Given the description of an element on the screen output the (x, y) to click on. 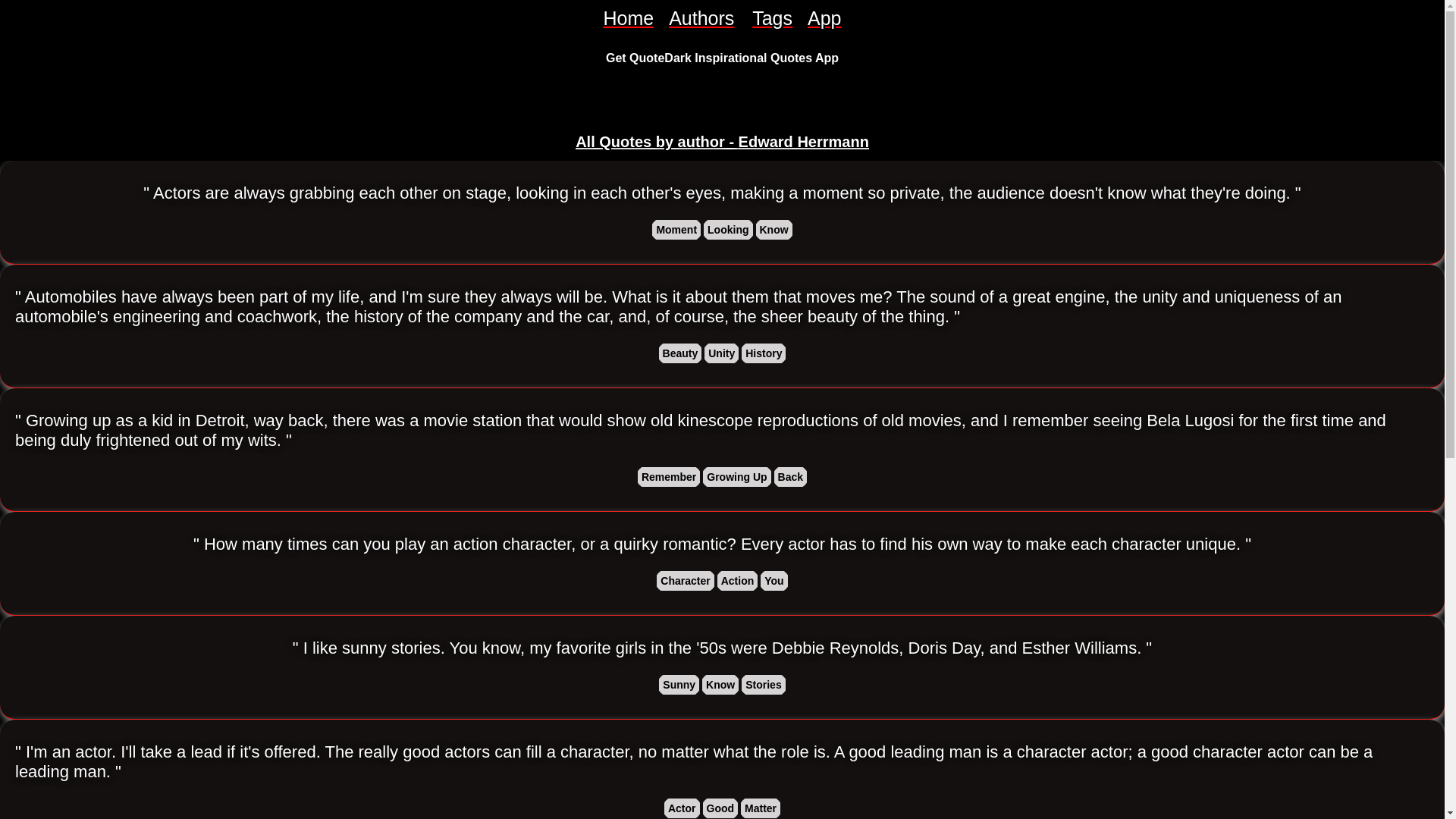
You (773, 580)
Stories (762, 684)
Growing Up (736, 477)
Back (790, 477)
Home (627, 18)
Looking (727, 229)
Actor (681, 807)
Remember (668, 477)
Know (719, 684)
Moment (675, 229)
Know (773, 229)
Matter (760, 807)
Action (738, 580)
